Given the description of an element on the screen output the (x, y) to click on. 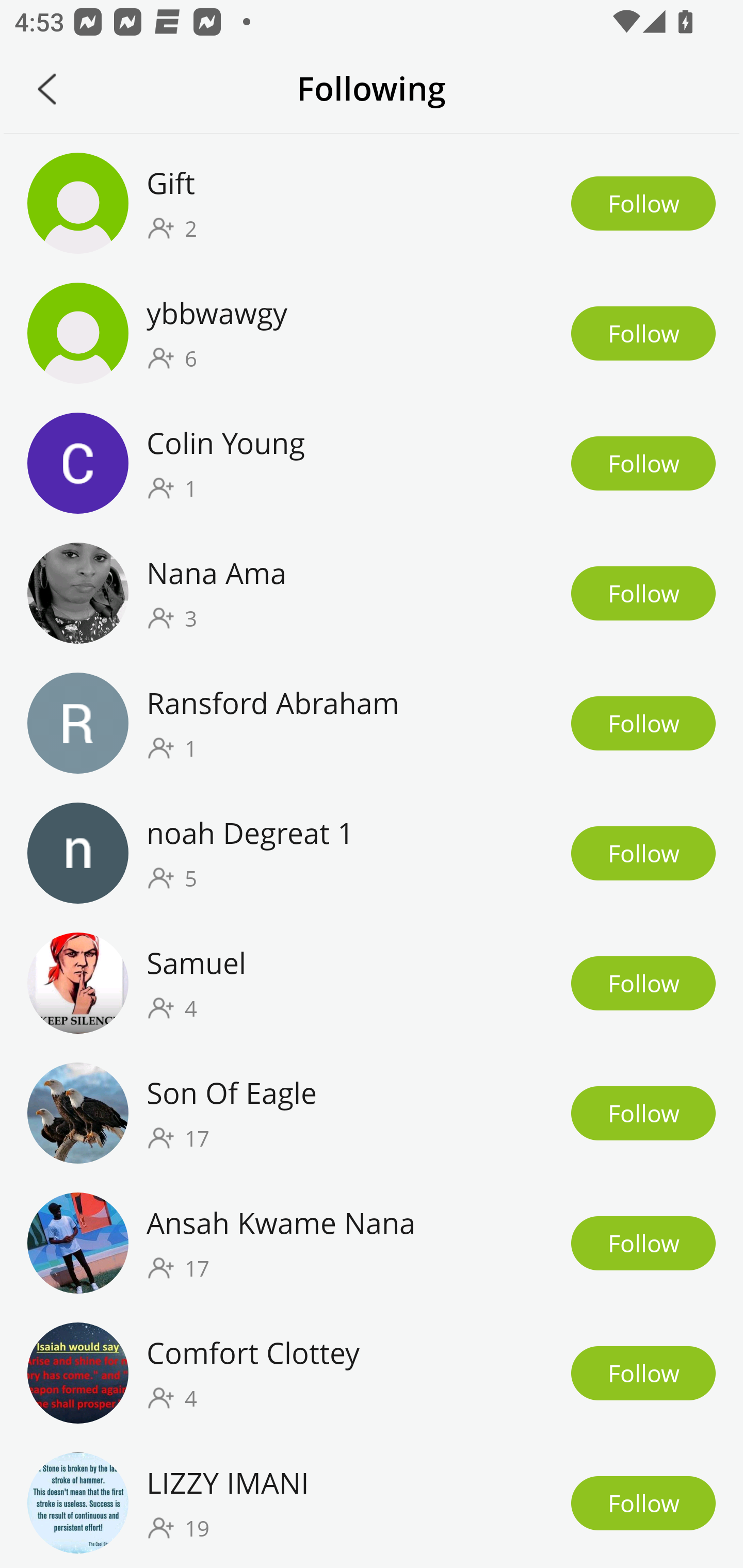
Back (46, 88)
Gift 2 Follow (371, 202)
Follow (643, 202)
ybbwawgy 6 Follow (371, 333)
Follow (643, 332)
Colin Young 1 Follow (371, 463)
Follow (643, 462)
Nana Ama 3 Follow (371, 593)
Follow (643, 593)
Ransford Abraham 1 Follow (371, 723)
Follow (643, 723)
noah Degreat 1 5 Follow (371, 853)
Follow (643, 853)
Samuel 4 Follow (371, 982)
Follow (643, 982)
Son Of Eagle 17 Follow (371, 1112)
Follow (643, 1112)
Ansah Kwame Nana 17 Follow (371, 1242)
Follow (643, 1243)
Comfort Clottey 4 Follow (371, 1372)
Follow (643, 1373)
LIZZY IMANI 19 Follow (371, 1502)
Follow (643, 1502)
